Given the description of an element on the screen output the (x, y) to click on. 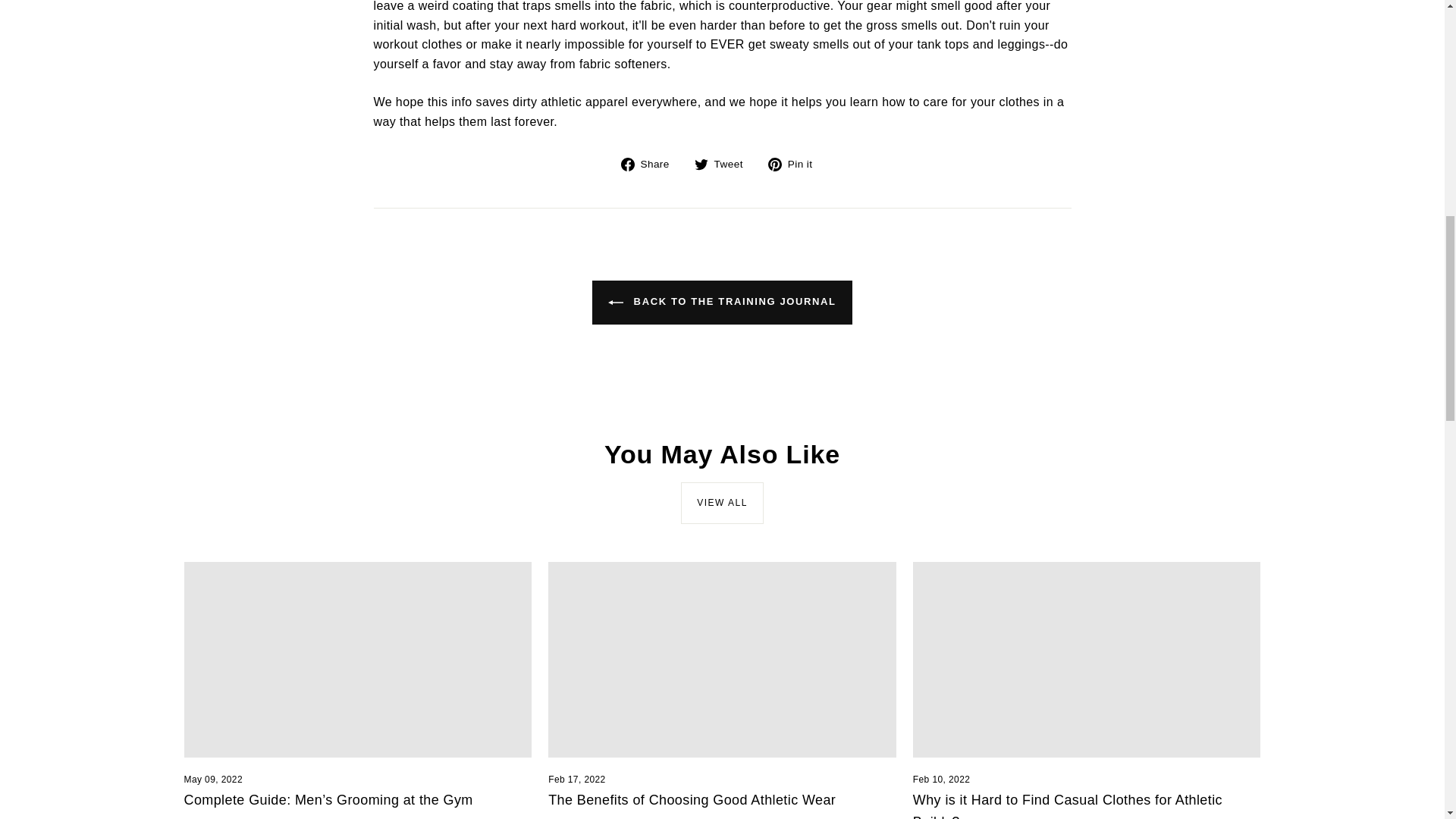
Share on Facebook (651, 164)
Pin on Pinterest (796, 164)
Tweet on Twitter (724, 164)
